Given the description of an element on the screen output the (x, y) to click on. 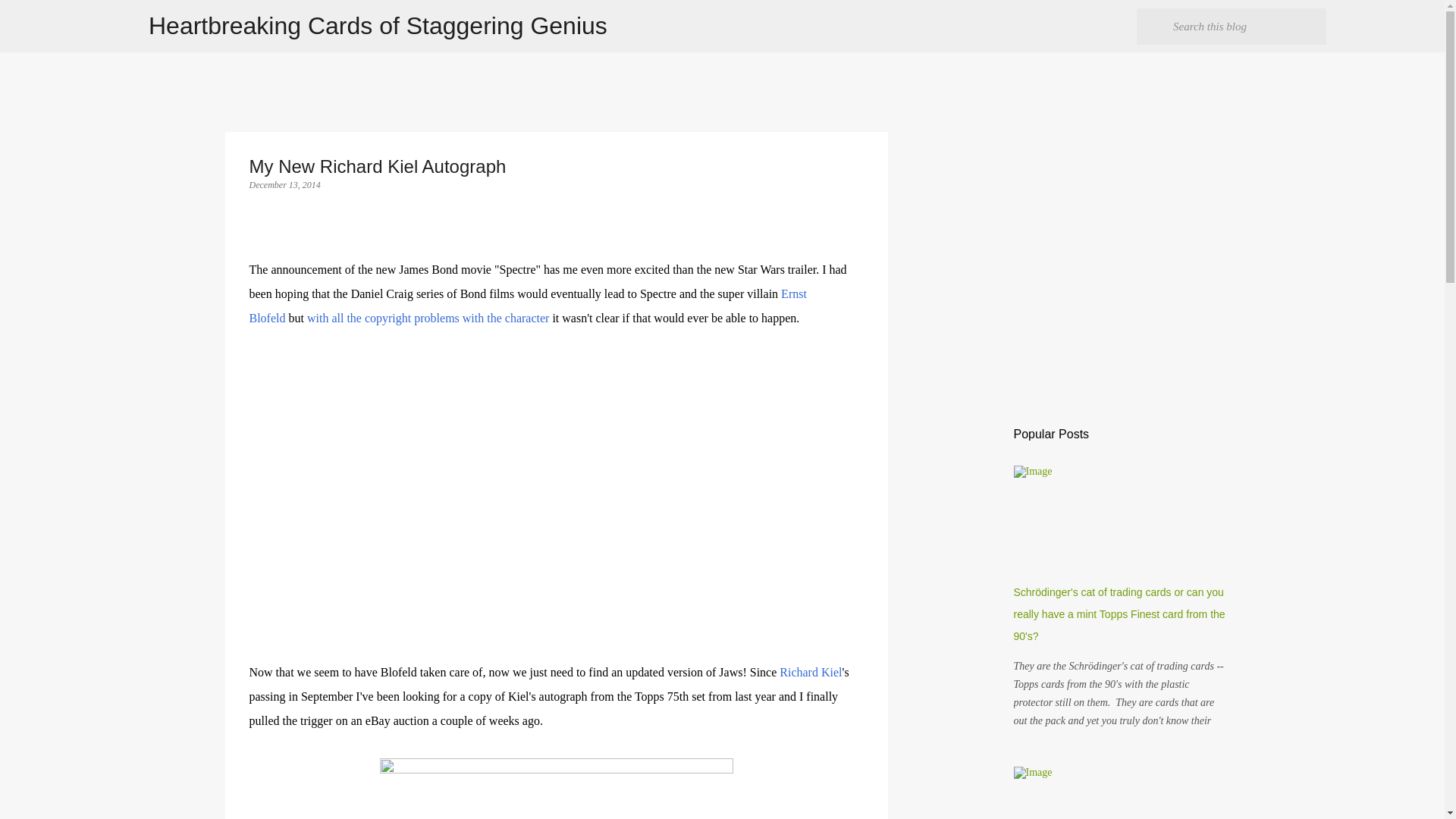
permanent link (284, 184)
with all the copyright problems with the character (427, 318)
Heartbreaking Cards of Staggering Genius (377, 25)
December 13, 2014 (284, 184)
Ernst Blofeld (527, 305)
Richard Kiel (809, 671)
